Given the description of an element on the screen output the (x, y) to click on. 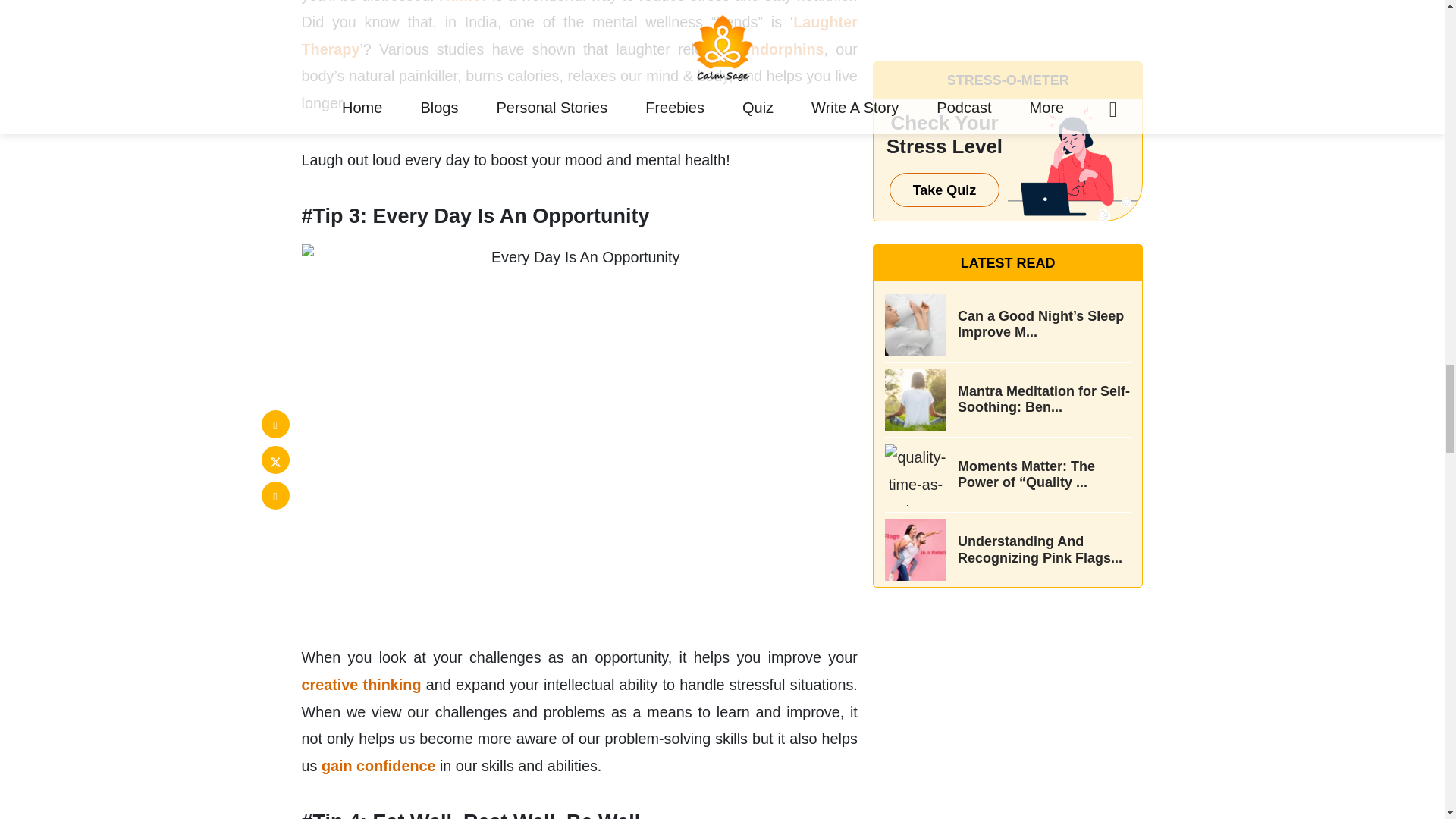
creative thinking (361, 684)
endorphins (783, 48)
gain confidence (380, 765)
Laughter Therapy (579, 35)
Humor (463, 2)
